Given the description of an element on the screen output the (x, y) to click on. 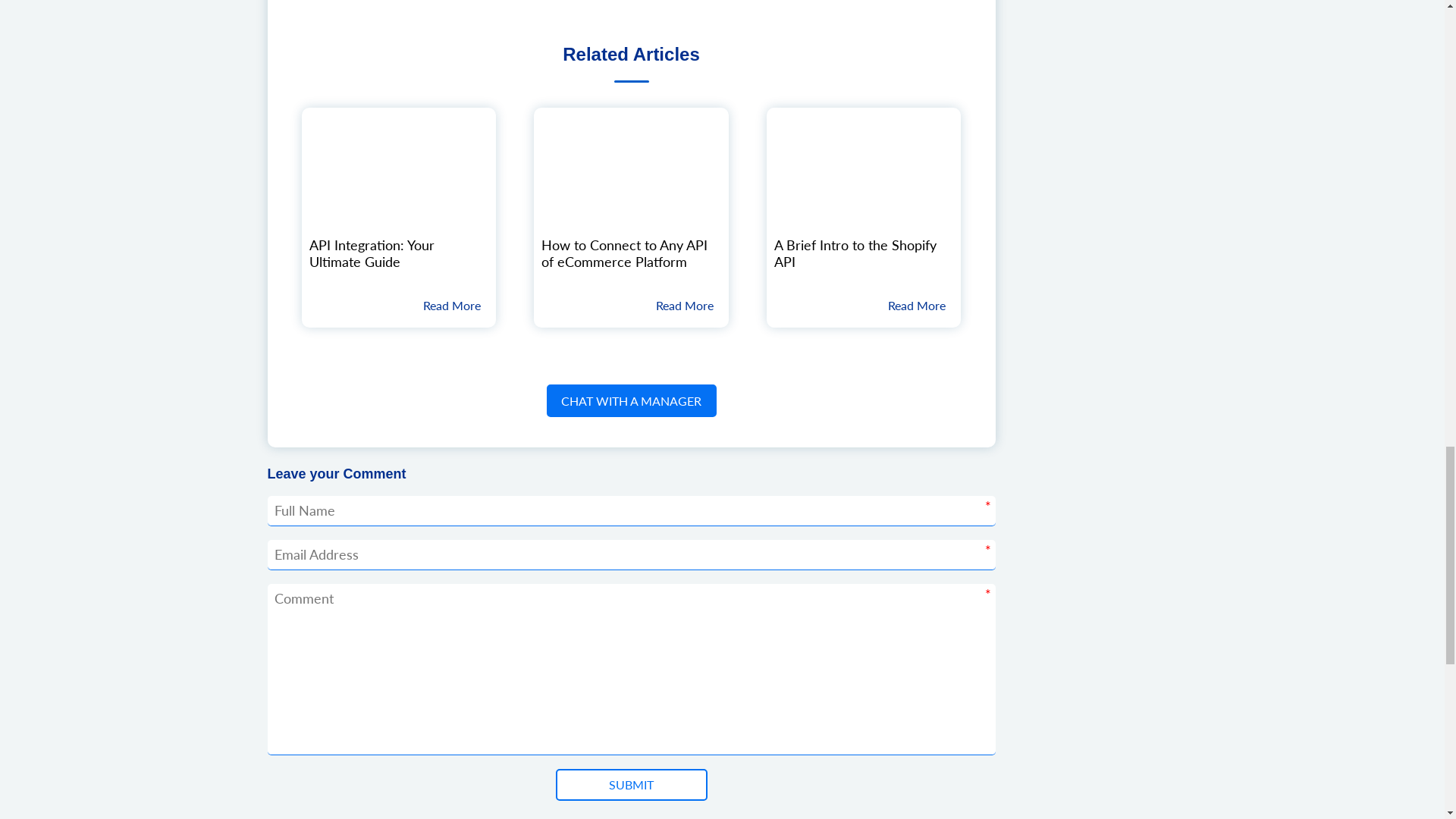
Submit (630, 784)
